Given the description of an element on the screen output the (x, y) to click on. 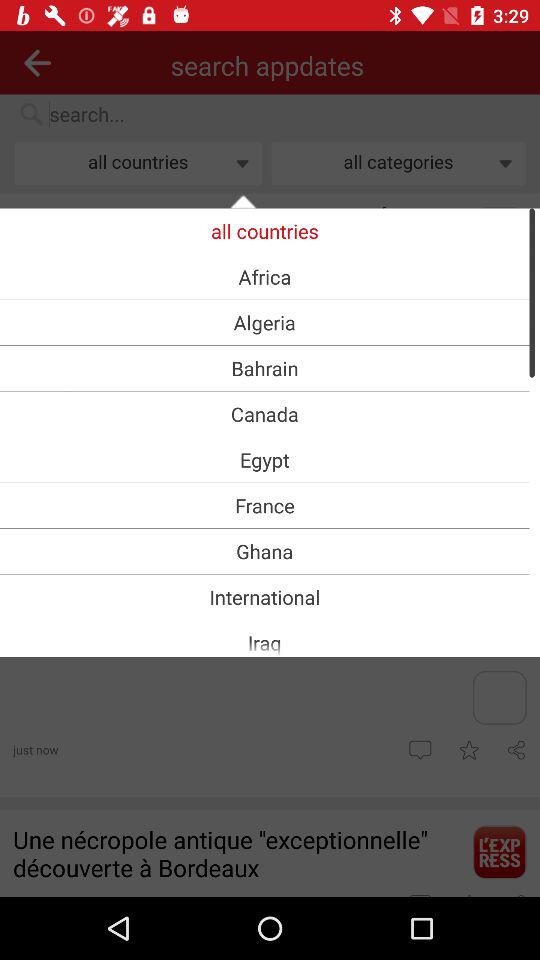
launch egypt (264, 459)
